Given the description of an element on the screen output the (x, y) to click on. 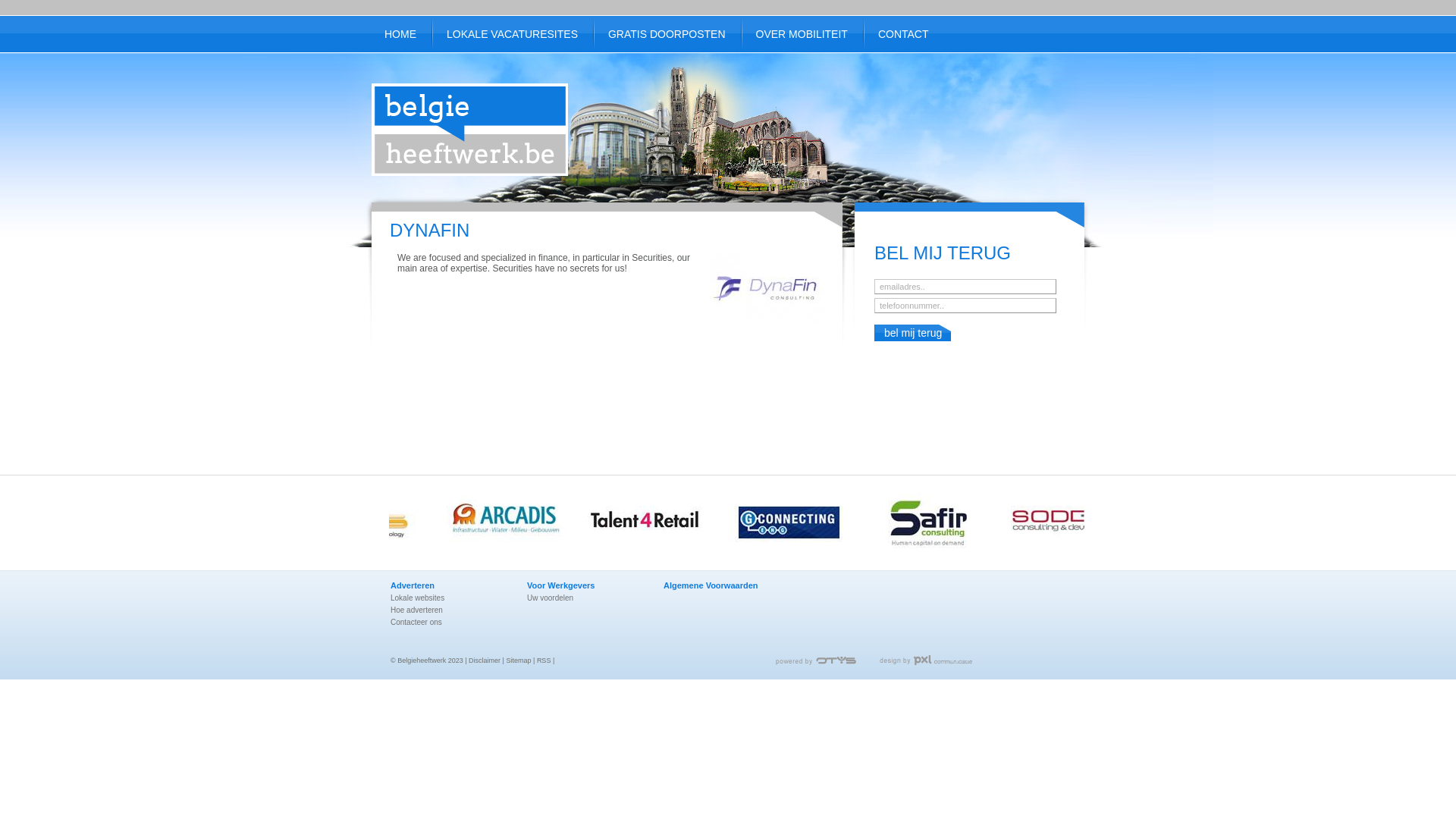
GRATIS DOORPOSTEN Element type: text (666, 33)
OTYS Recruiting Technology Element type: hover (815, 660)
HOME Element type: text (400, 33)
Voor Werkgevers Element type: text (585, 584)
Contacteer ons Element type: text (449, 622)
OVER MOBILITEIT Element type: text (801, 33)
Talent4Retail Element type: hover (657, 523)
Uw voordelen Element type: text (585, 597)
Sitemap Element type: text (517, 660)
Adverteren Element type: text (449, 584)
Arcadis Belgium Element type: hover (517, 523)
Sodeva Consulting & Development Element type: hover (1080, 523)
Lokale websites Element type: text (449, 597)
Advertisement Element type: hover (906, 105)
ENG-Connecting bvba Element type: hover (798, 523)
DynaFin Element type: hover (763, 328)
RSS Element type: text (543, 660)
Hoe adverteren Element type: text (449, 609)
LOKALE VACATURESITES Element type: text (512, 33)
Safir Consulting Element type: hover (939, 523)
PXL Communicatie Element type: hover (925, 660)
OTYS Belgium bvba Element type: hover (376, 523)
CONTACT Element type: text (903, 33)
Disclaimer Element type: text (484, 660)
Algemene Voorwaarden Element type: text (722, 584)
Advertisement Element type: hover (727, 430)
bel mij terug Element type: text (912, 332)
